Given the description of an element on the screen output the (x, y) to click on. 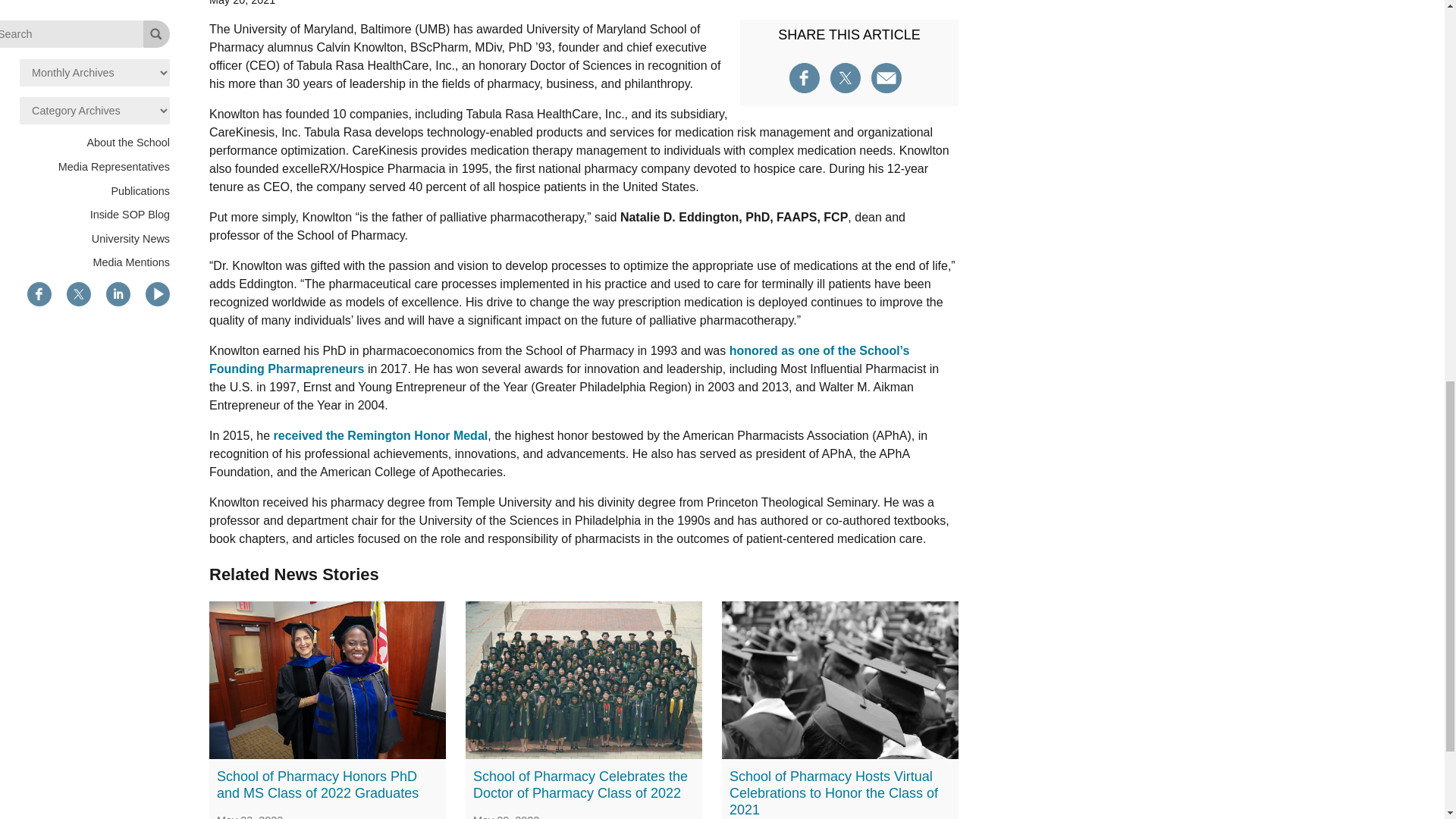
received the Remington Honor Medal (380, 435)
School of Pharmacy Honors PhD and MS Class of 2022 Graduates (317, 784)
